Given the description of an element on the screen output the (x, y) to click on. 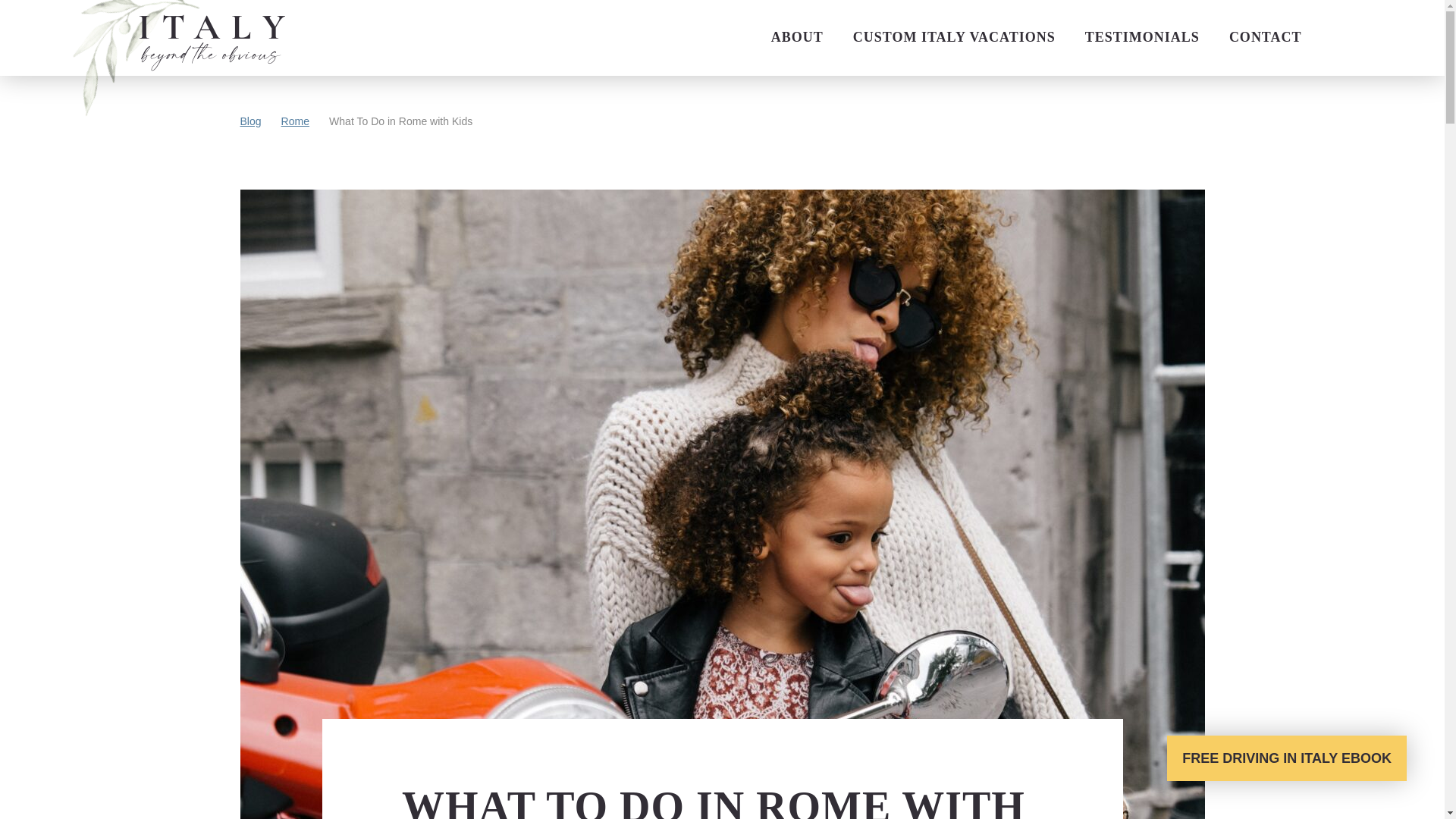
CUSTOM ITALY VACATIONS (954, 36)
CONTACT (1264, 36)
TESTIMONIALS (1141, 36)
Blog (250, 121)
Rome (294, 121)
ABOUT (796, 36)
